Given the description of an element on the screen output the (x, y) to click on. 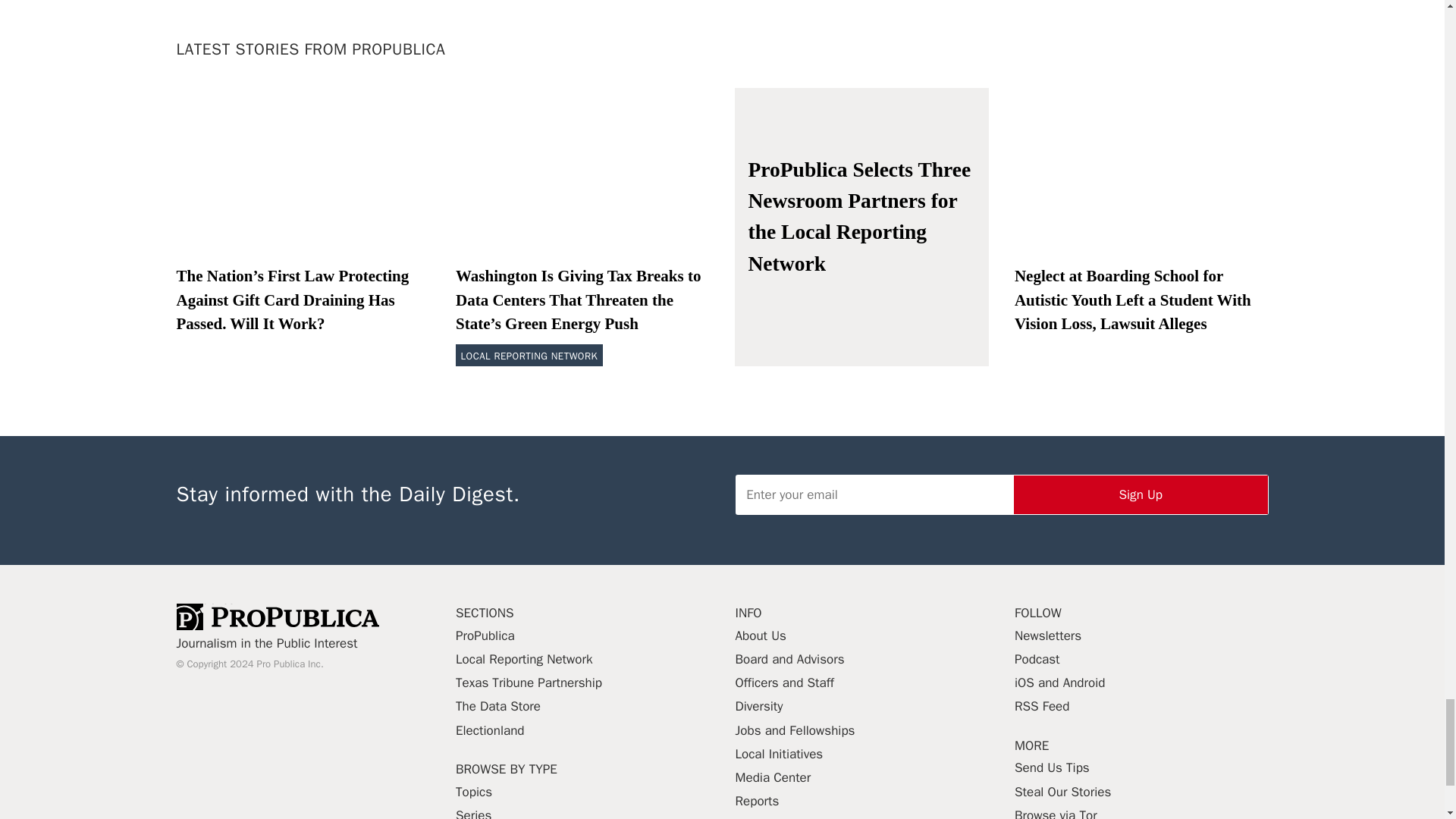
Sign Up (1140, 494)
